Given the description of an element on the screen output the (x, y) to click on. 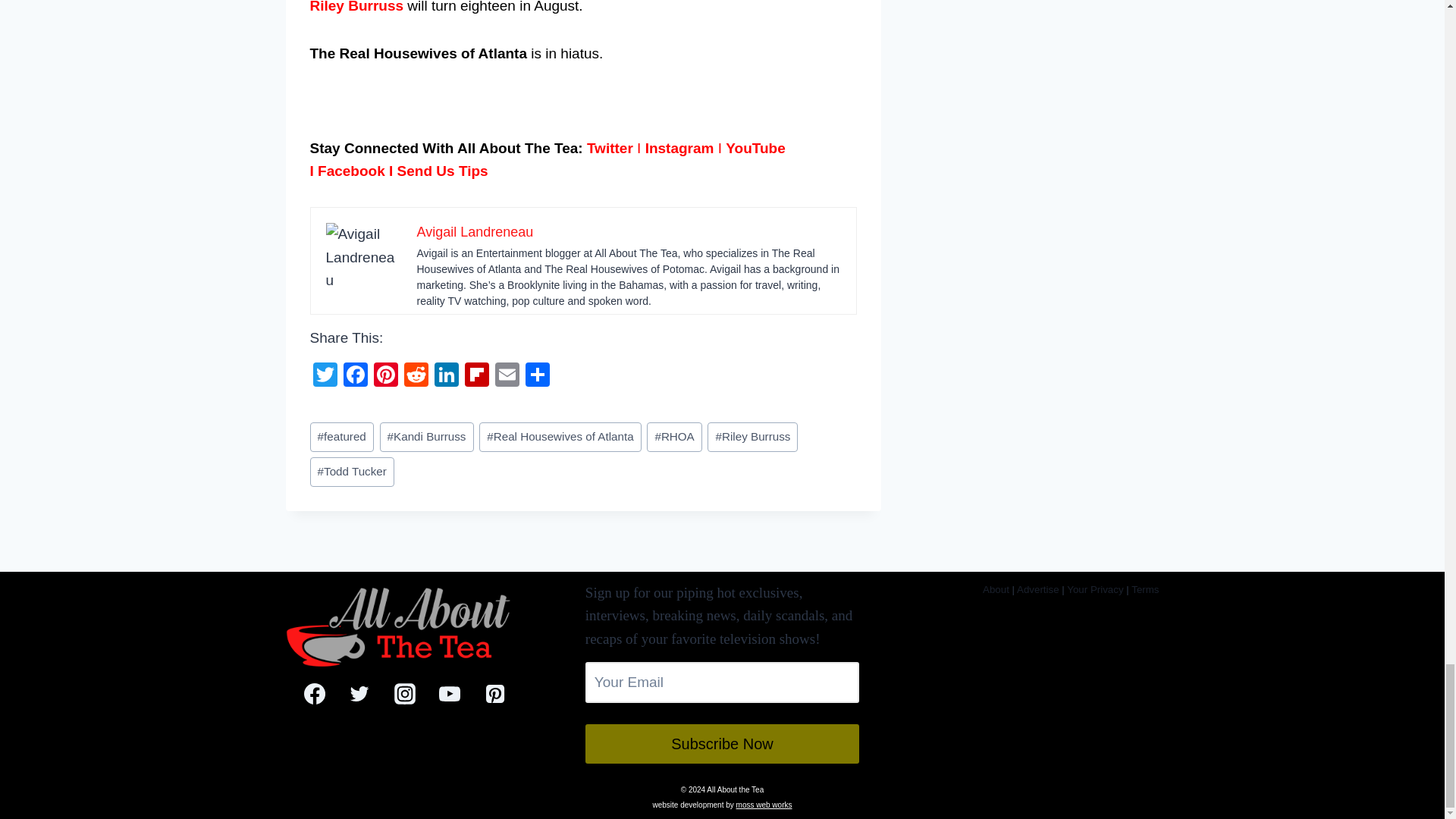
Reddit (415, 376)
Pinterest (384, 376)
Twitter (323, 376)
Flipboard (476, 376)
Facebook (354, 376)
LinkedIn (445, 376)
